Given the description of an element on the screen output the (x, y) to click on. 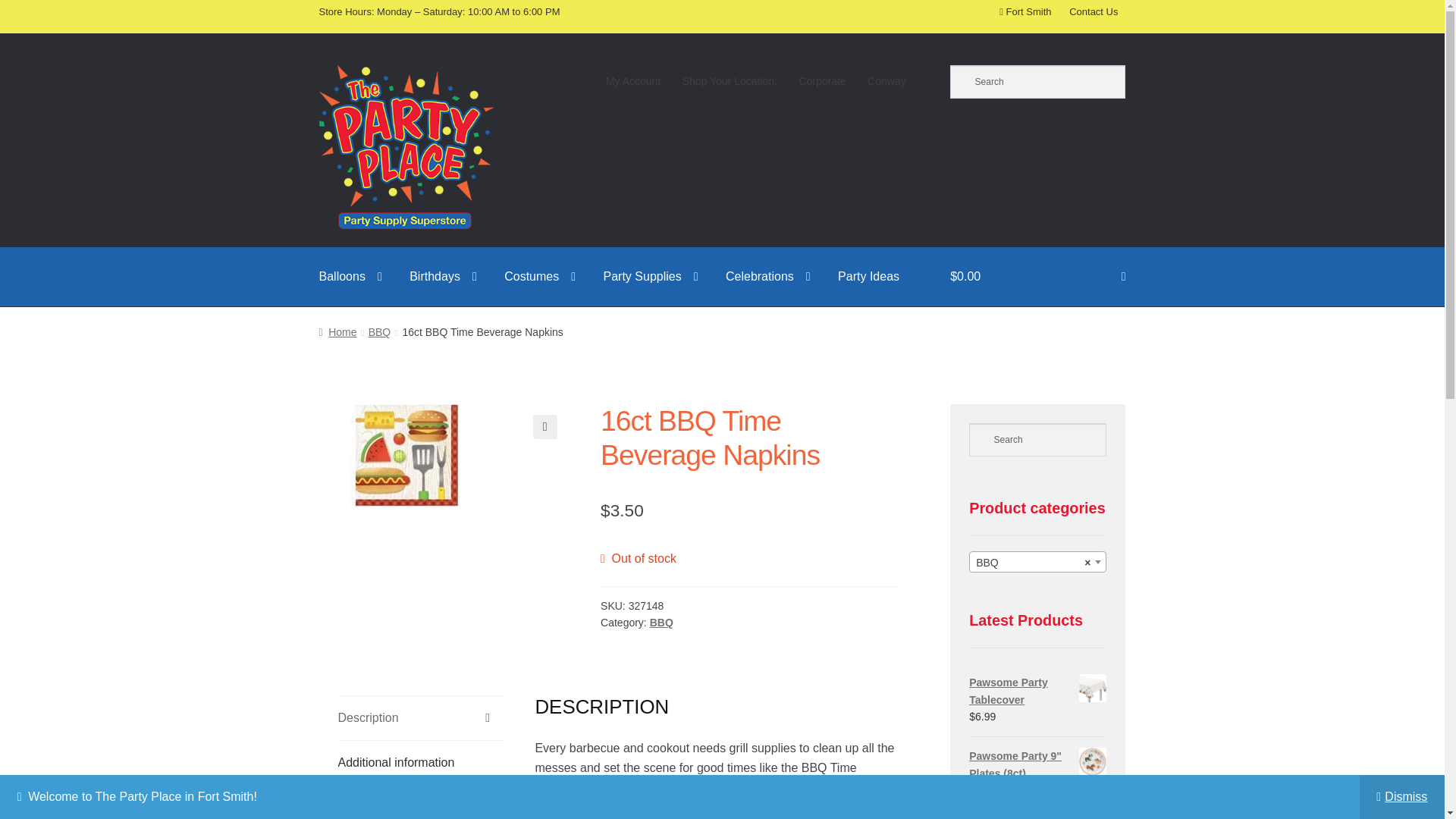
Corporate (822, 81)
Birthdays (443, 276)
Conway (887, 81)
My Account (632, 81)
Contact Us (1093, 11)
BBQ (1037, 562)
Costumes (540, 276)
View your shopping cart (1037, 276)
Balloons (350, 276)
Fort Smith (1024, 11)
Party Supplies (650, 276)
Shop Your Location: (729, 81)
